Given the description of an element on the screen output the (x, y) to click on. 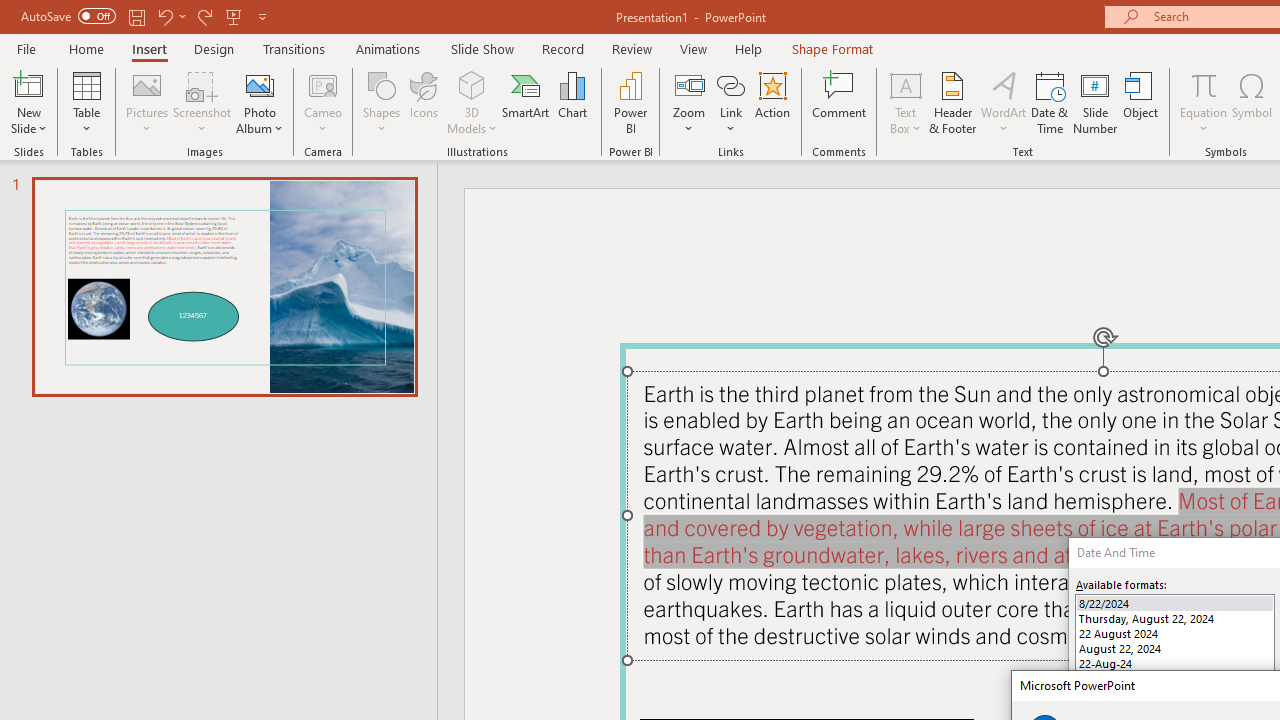
Quick Access Toolbar (145, 16)
Help (748, 48)
8/22/2024 (1174, 603)
Thursday, August 22, 2024 (1174, 618)
Redo (204, 15)
New Slide (28, 84)
Power BI (630, 102)
New Photo Album... (259, 84)
More Options (1203, 121)
Action (772, 102)
Review (631, 48)
Equation (1203, 102)
Equation (1203, 84)
Transitions (294, 48)
